Given the description of an element on the screen output the (x, y) to click on. 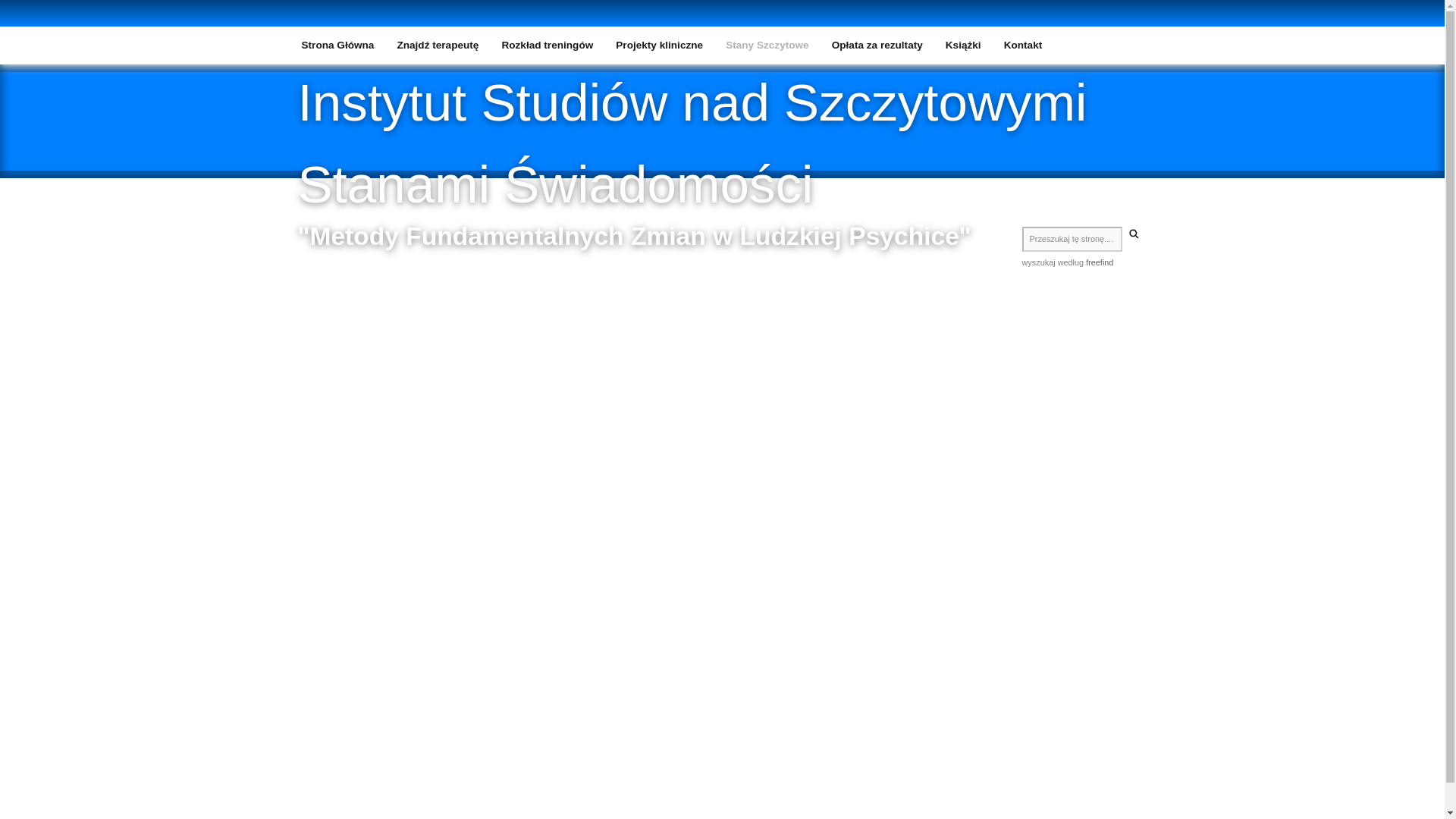
Projekty kliniczne (659, 45)
Kontakt (1023, 45)
Stany Szczytowe (767, 45)
freefind (1099, 261)
